Given the description of an element on the screen output the (x, y) to click on. 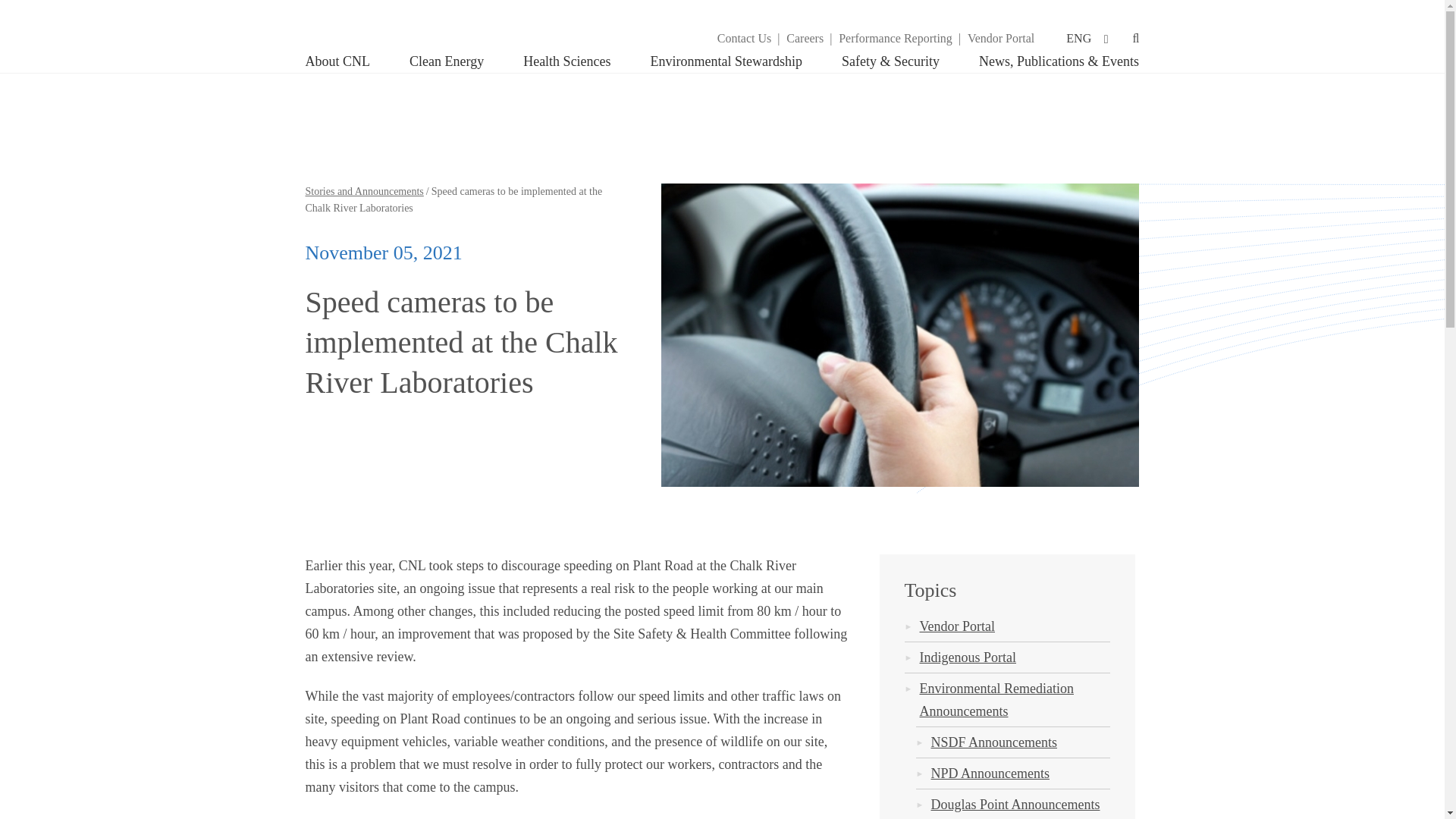
Performance Reporting (895, 37)
Careers (804, 37)
ENG (1086, 37)
Vendor Portal (1000, 37)
About CNL (347, 61)
Contact Us (744, 37)
Clean Energy (446, 61)
